Given the description of an element on the screen output the (x, y) to click on. 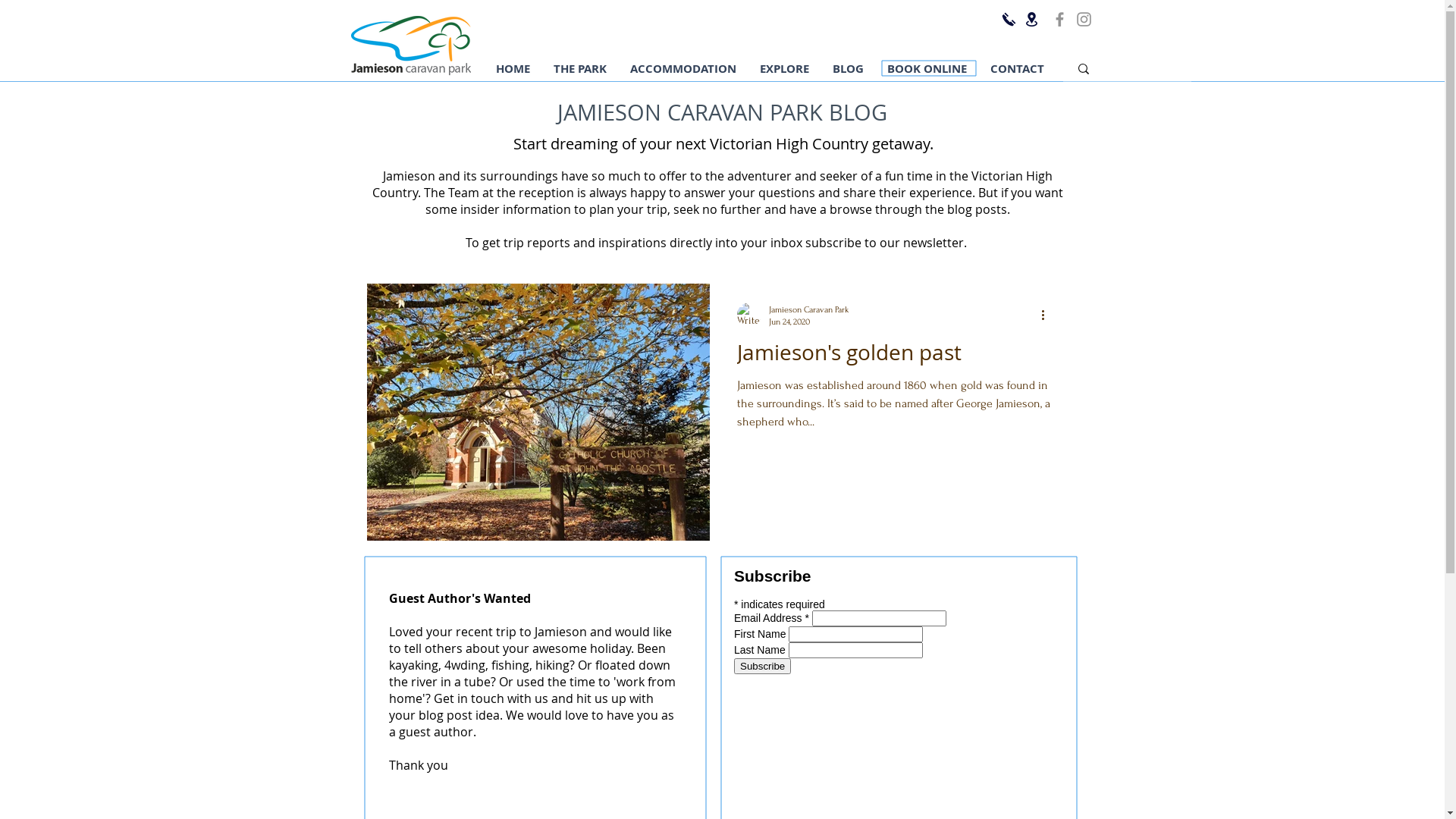
Jamieson's golden past Element type: text (894, 356)
CONTACT Element type: text (1016, 68)
HOME Element type: text (512, 68)
BLOG Element type: text (847, 68)
BOOK ONLINE Element type: text (926, 68)
ACCOMMODATION Element type: text (681, 68)
